Given the description of an element on the screen output the (x, y) to click on. 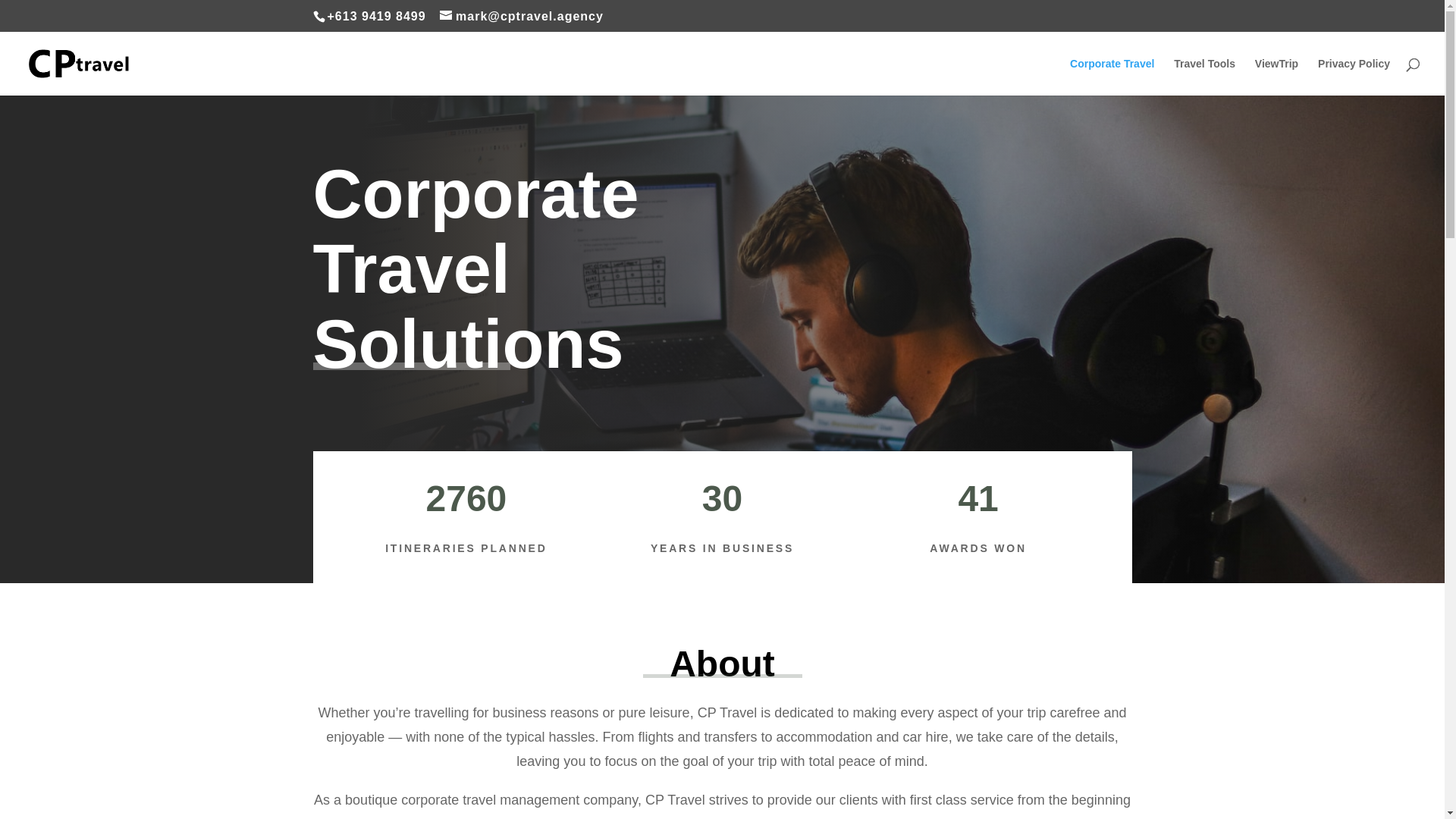
Travel Tools Element type: text (1204, 76)
Corporate Travel Element type: text (1112, 76)
ViewTrip Element type: text (1276, 76)
Privacy Policy Element type: text (1353, 76)
mark@cptravel.agency Element type: text (521, 15)
